Given the description of an element on the screen output the (x, y) to click on. 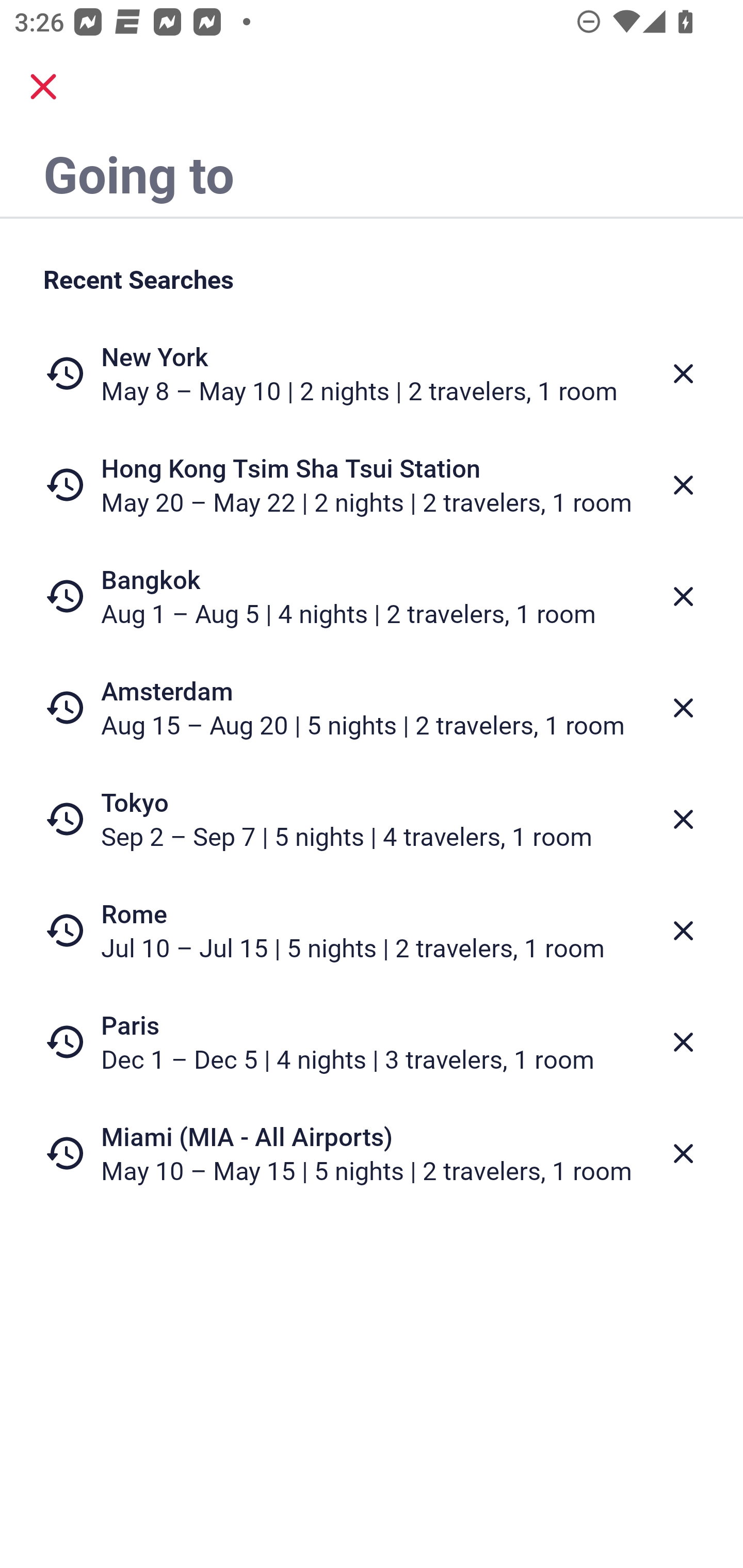
close. (43, 86)
Delete from recent searches (683, 373)
Delete from recent searches (683, 485)
Delete from recent searches (683, 596)
Delete from recent searches (683, 707)
Delete from recent searches (683, 819)
Delete from recent searches (683, 930)
Delete from recent searches (683, 1041)
Delete from recent searches (683, 1153)
